Given the description of an element on the screen output the (x, y) to click on. 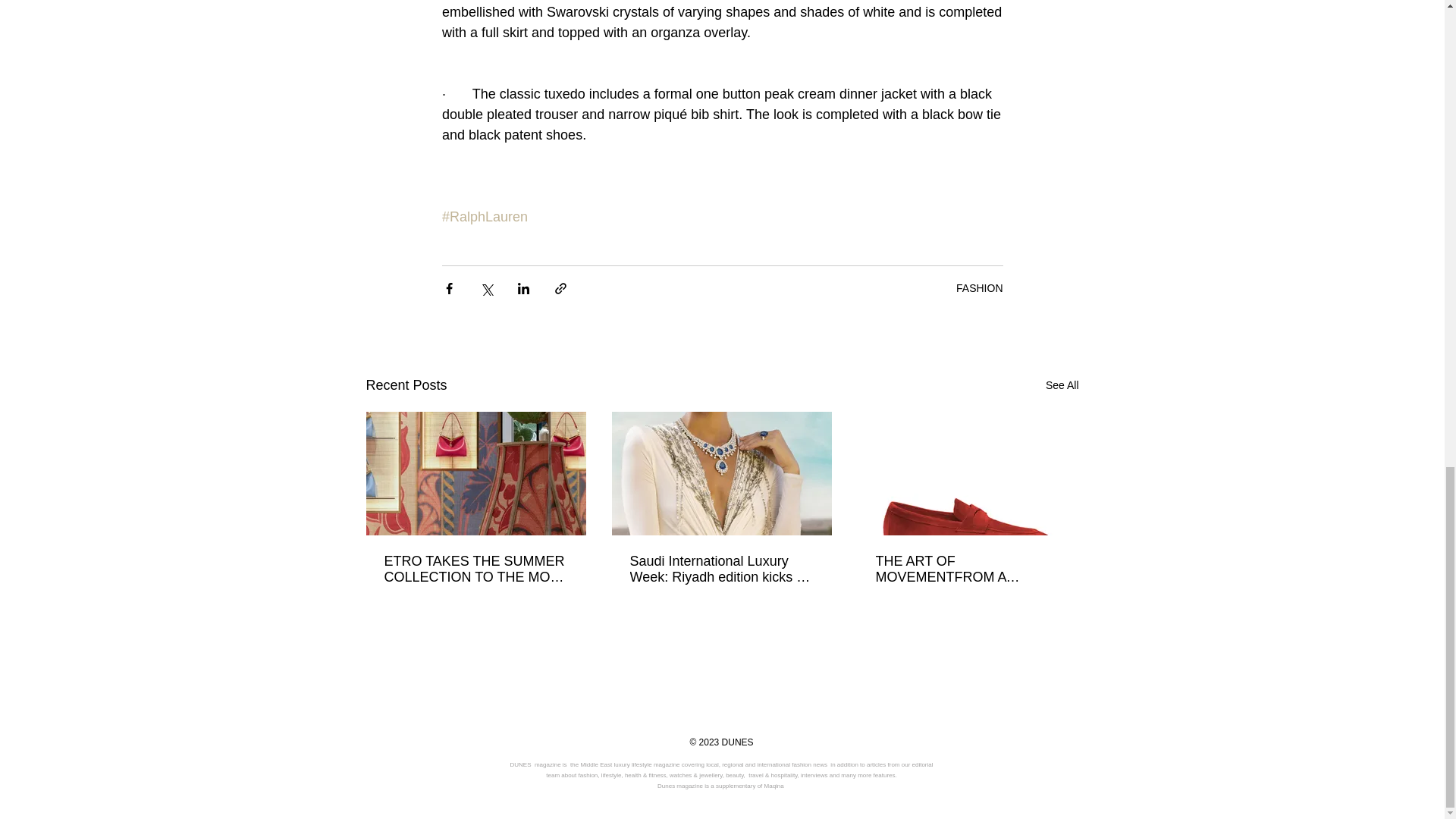
FASHION (979, 287)
See All (1061, 385)
